Given the description of an element on the screen output the (x, y) to click on. 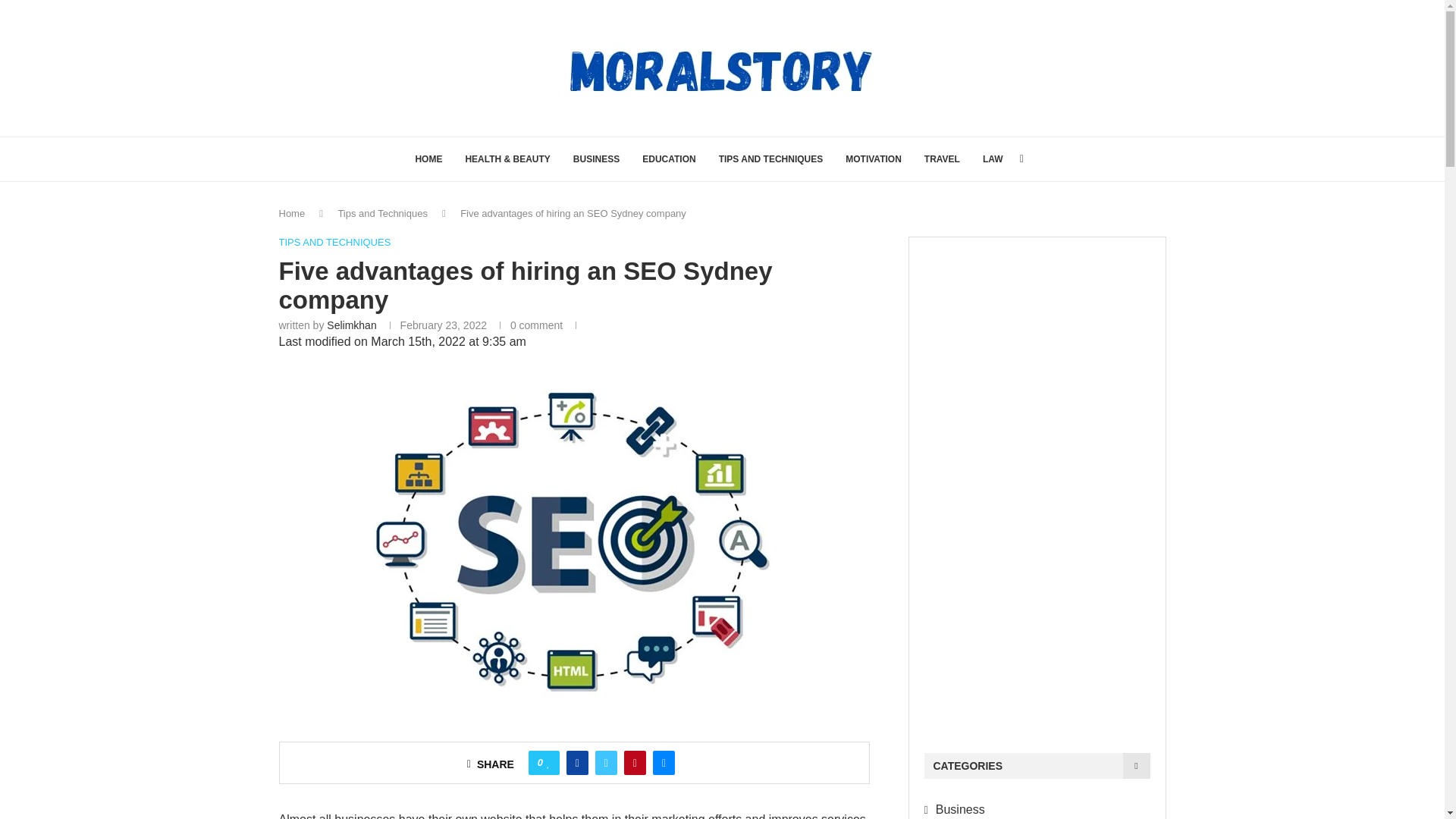
Selimkhan (350, 325)
TIPS AND TECHNIQUES (335, 242)
Home (292, 213)
Tips and Techniques (382, 213)
EDUCATION (668, 158)
TIPS AND TECHNIQUES (771, 158)
MOTIVATION (873, 158)
BUSINESS (596, 158)
